Given the description of an element on the screen output the (x, y) to click on. 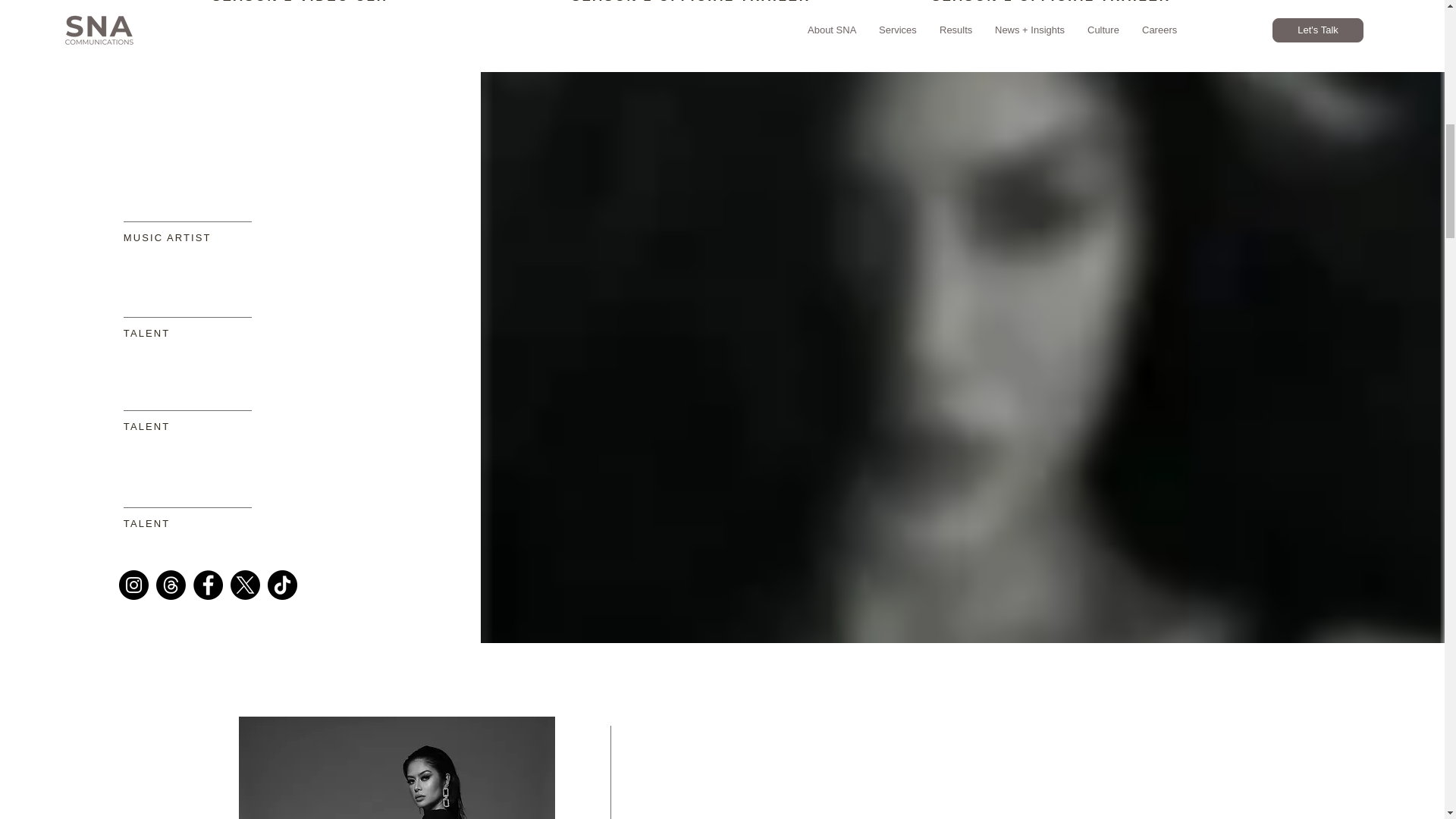
SEASON 2 OFFICIAL TRAILER (691, 2)
SEASON 1 OFFICIAL TRAILER (1050, 2)
SEASON 2 VIDEO CLIP (302, 2)
